Given the description of an element on the screen output the (x, y) to click on. 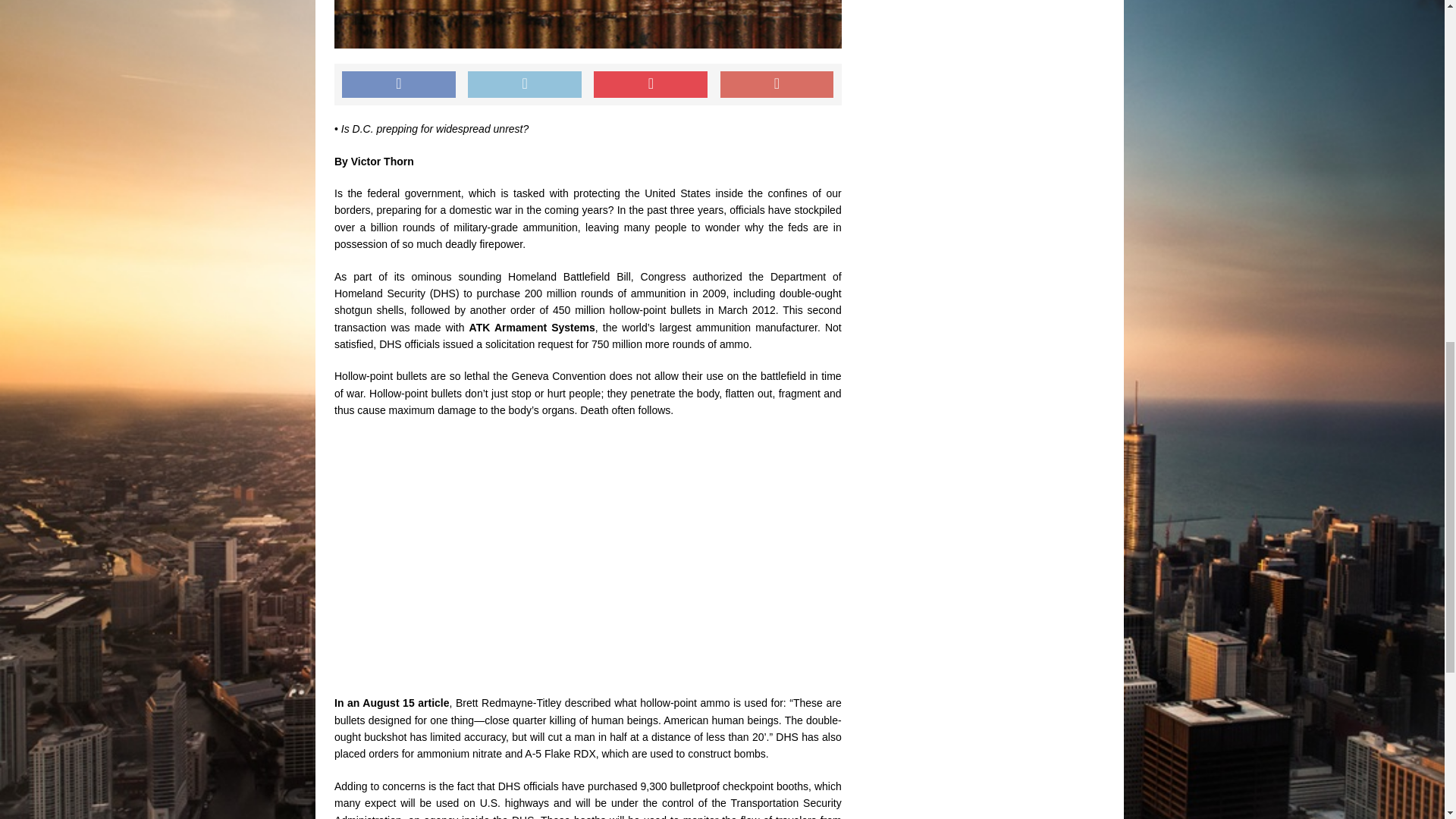
Tweet This Post (523, 84)
Pin This Post (650, 84)
ATK (481, 327)
Feds Stockpiling Ammo (587, 24)
Armament Systems (545, 327)
Share on Facebook (398, 84)
